Given the description of an element on the screen output the (x, y) to click on. 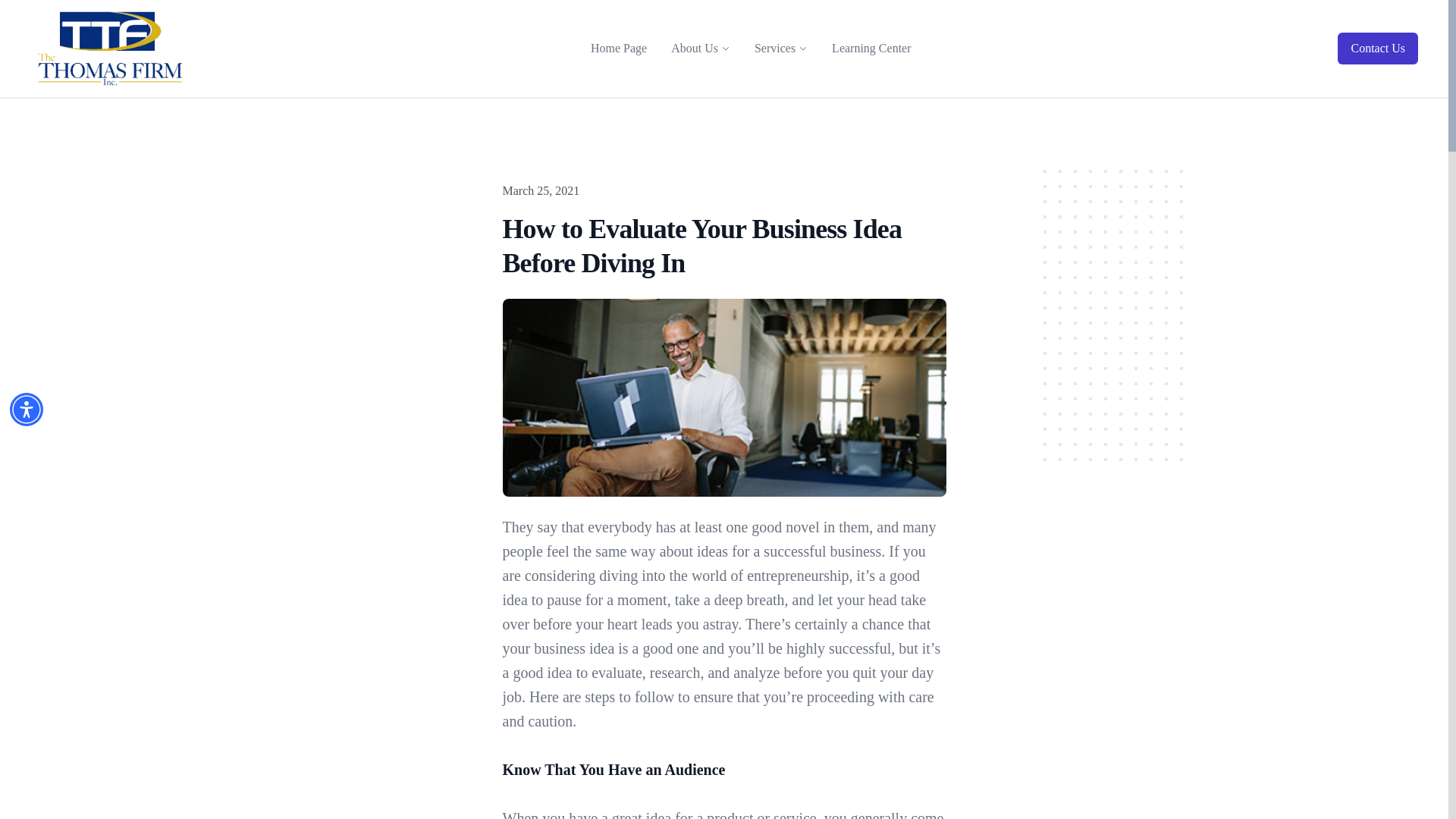
Contact Us (1378, 48)
Learning Center (871, 48)
Accessibility Menu (26, 409)
Services (774, 48)
Home Page (618, 48)
About Us (694, 48)
Home Page (618, 48)
www.thethomasfirminc.com (108, 48)
Learning Center (871, 48)
